Given the description of an element on the screen output the (x, y) to click on. 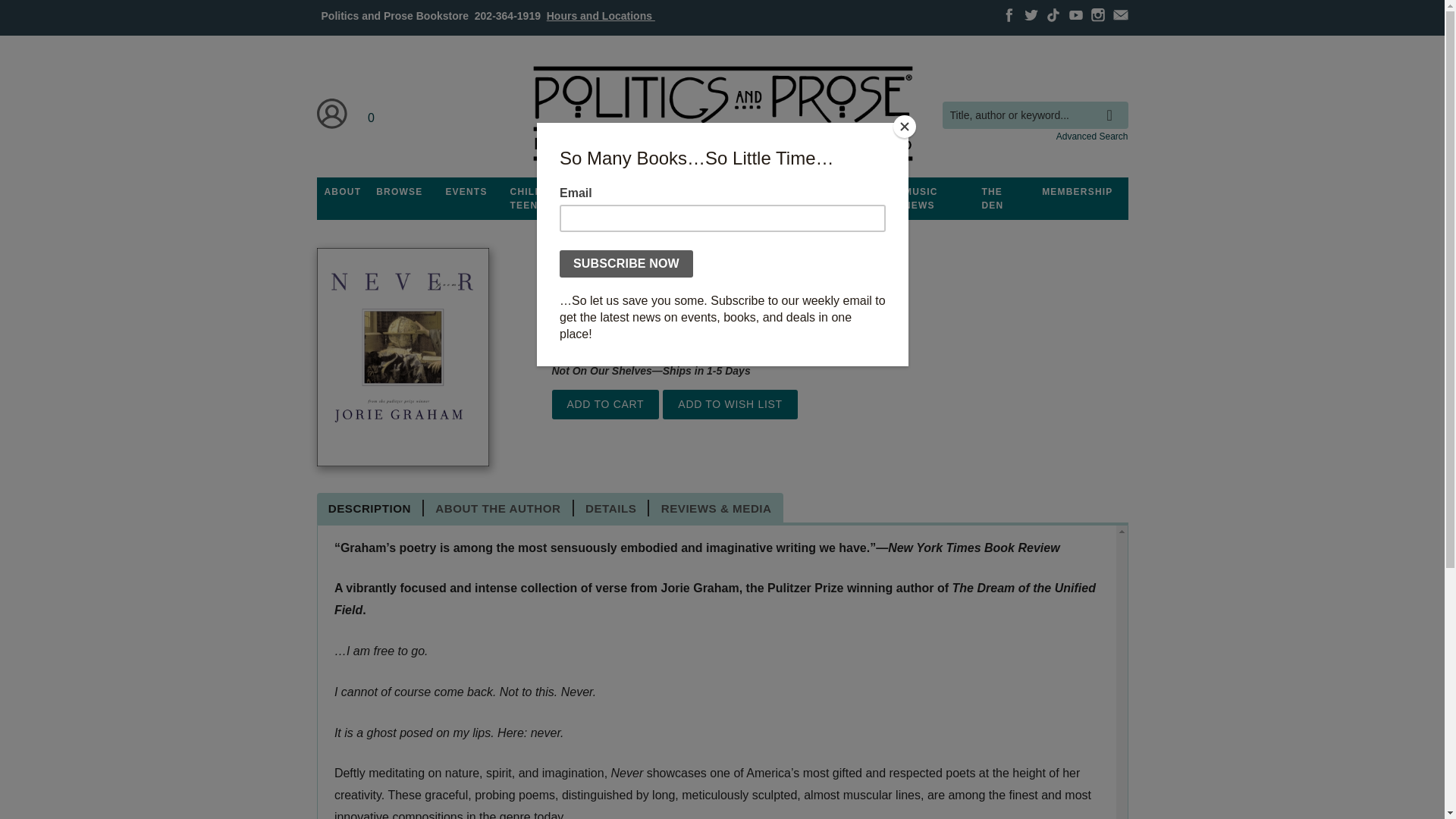
See our store ours and locations (601, 15)
search (1112, 103)
Title, author or keyword... (1034, 115)
Home (721, 114)
Add to Cart (605, 404)
BROWSE (398, 191)
search (1112, 103)
See information about our programs (633, 191)
Add to Wish List (729, 404)
PROGRAMS (633, 191)
EVENTS (465, 191)
SERVICES (808, 191)
SUBSCRIPTIONS (722, 191)
Browse our shelves (398, 191)
